Given the description of an element on the screen output the (x, y) to click on. 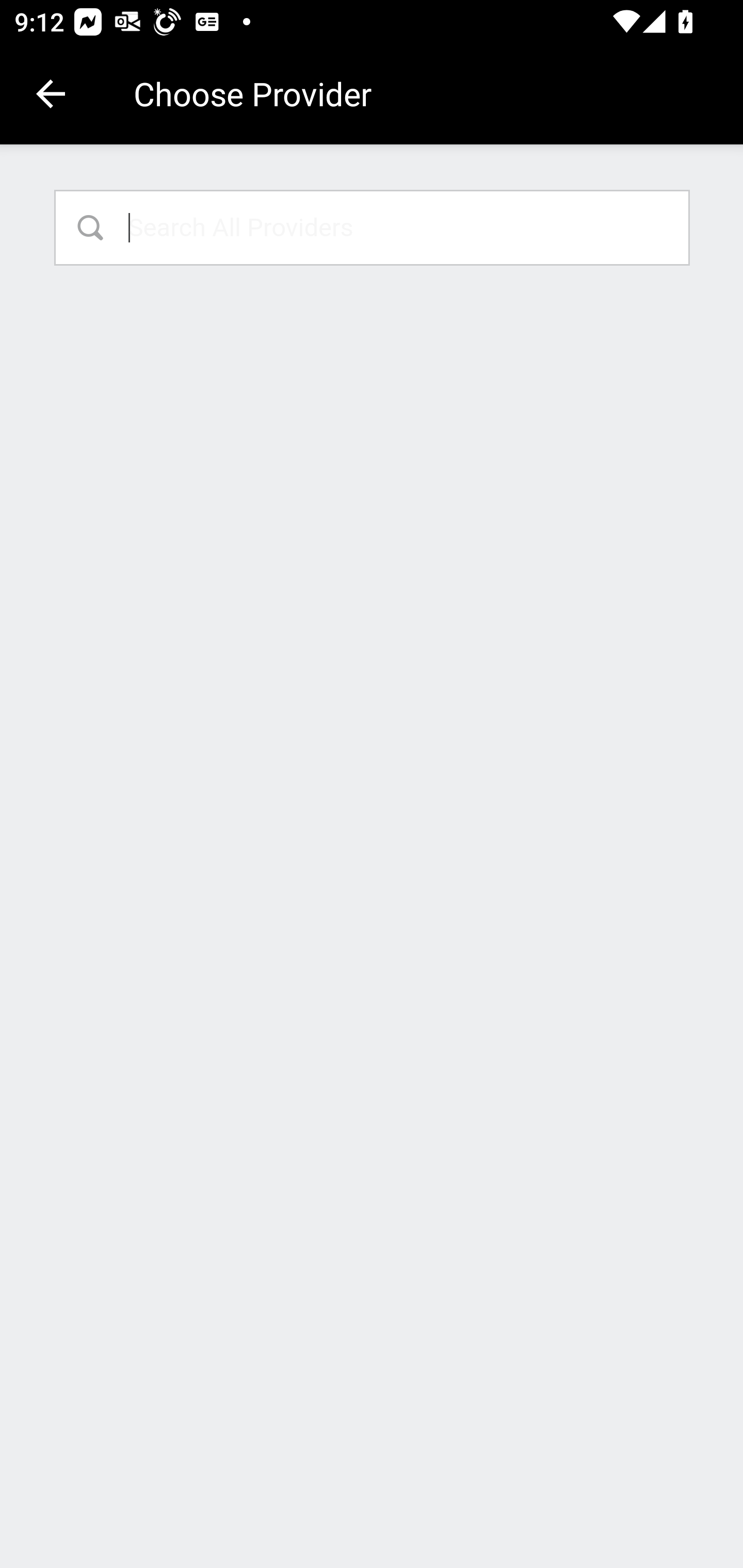
Navigate up (50, 93)
